Given the description of an element on the screen output the (x, y) to click on. 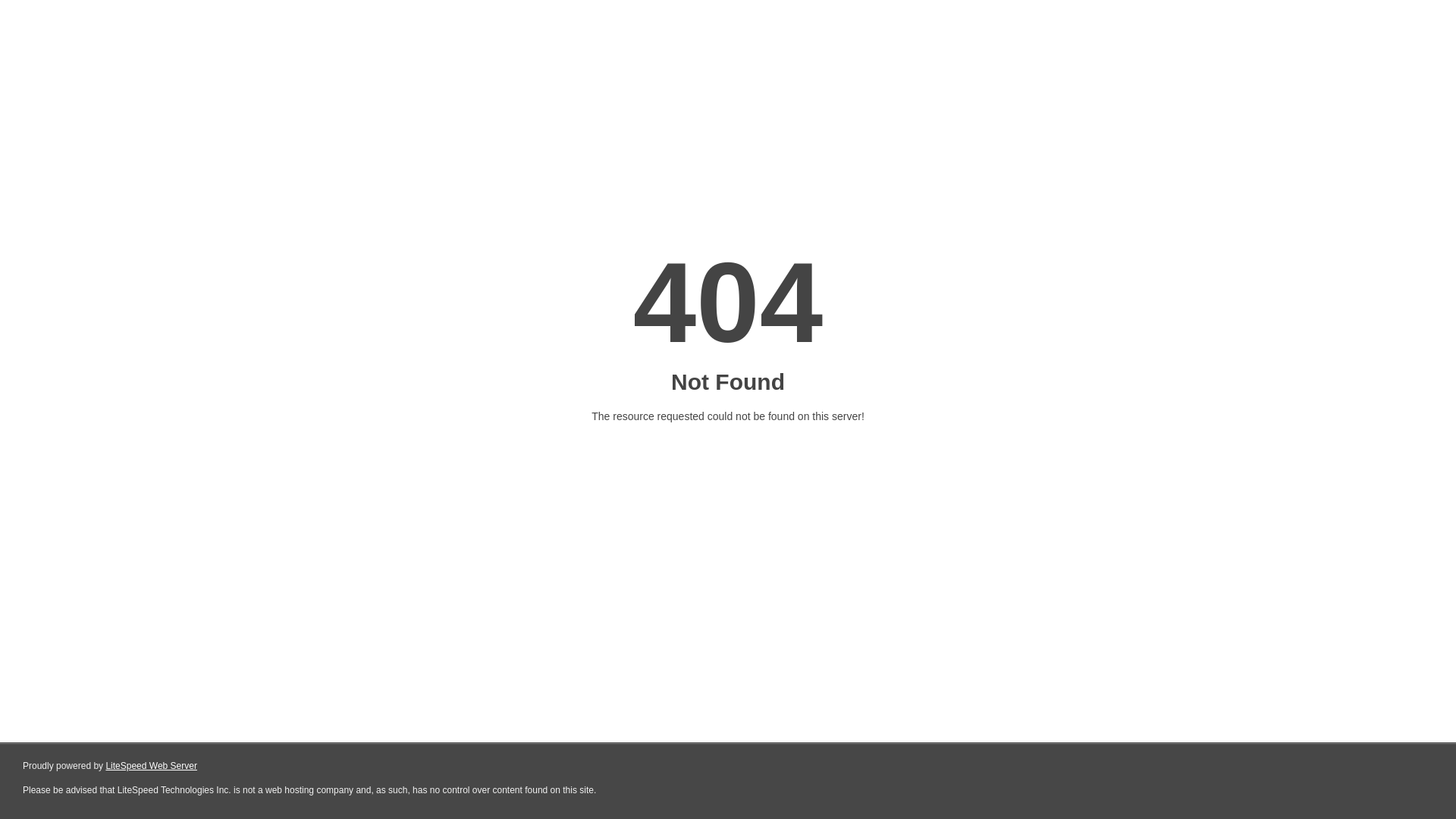
LiteSpeed Web Server Element type: text (151, 765)
